Given the description of an element on the screen output the (x, y) to click on. 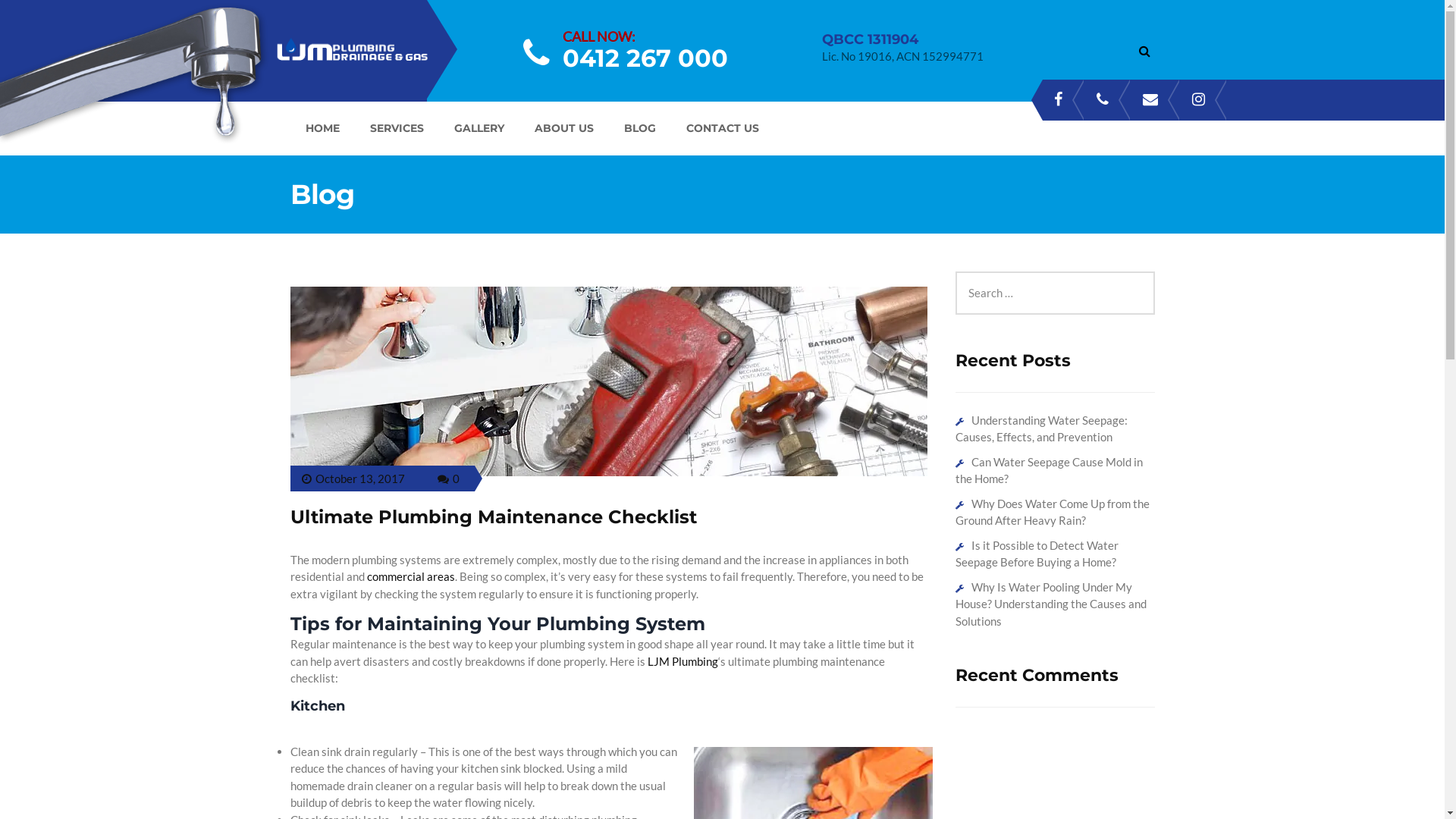
LJM Plumbing Element type: text (682, 661)
GALLERY Element type: text (478, 127)
Search Element type: text (34, 15)
Ultimate Plumbing Maintenance Checklist Element type: text (492, 516)
Why Does Water Come Up from the Ground After Heavy Rain? Element type: text (1052, 511)
SERVICES Element type: text (396, 127)
0412 267 000 Element type: text (645, 57)
HOME Element type: text (321, 127)
Is it Possible to Detect Water Seepage Before Buying a Home? Element type: text (1036, 553)
ABOUT US Element type: text (563, 127)
commercial areas Element type: text (411, 576)
Understanding Water Seepage: Causes, Effects, and Prevention Element type: text (1041, 428)
BLOG Element type: text (639, 127)
Can Water Seepage Cause Mold in the Home? Element type: text (1048, 470)
CONTACT US Element type: text (721, 127)
